Given the description of an element on the screen output the (x, y) to click on. 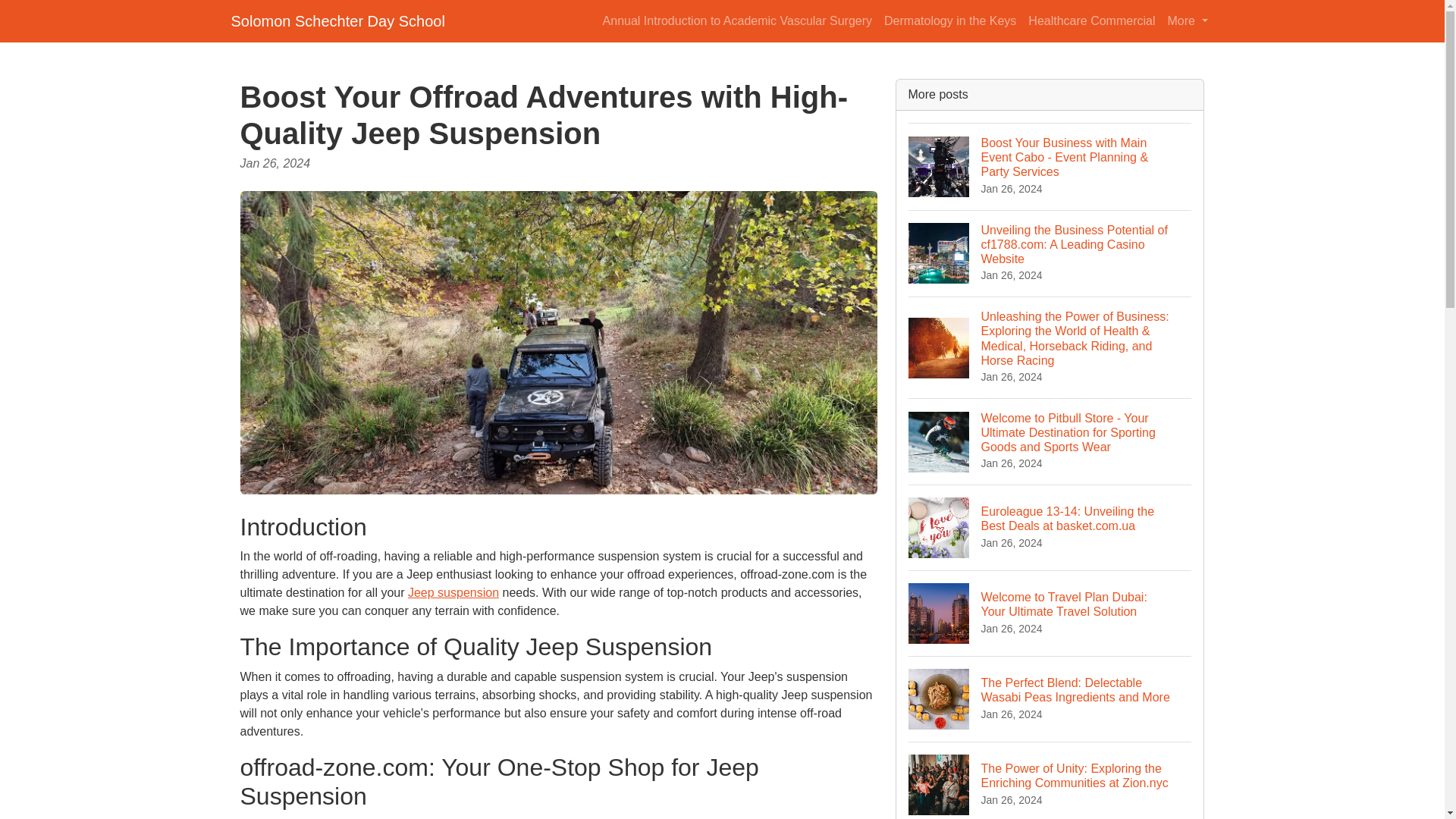
More (1187, 20)
Healthcare Commercial (1091, 20)
Solomon Schechter Day School (337, 20)
Dermatology in the Keys (949, 20)
Jeep suspension (453, 592)
Annual Introduction to Academic Vascular Surgery (736, 20)
